Given the description of an element on the screen output the (x, y) to click on. 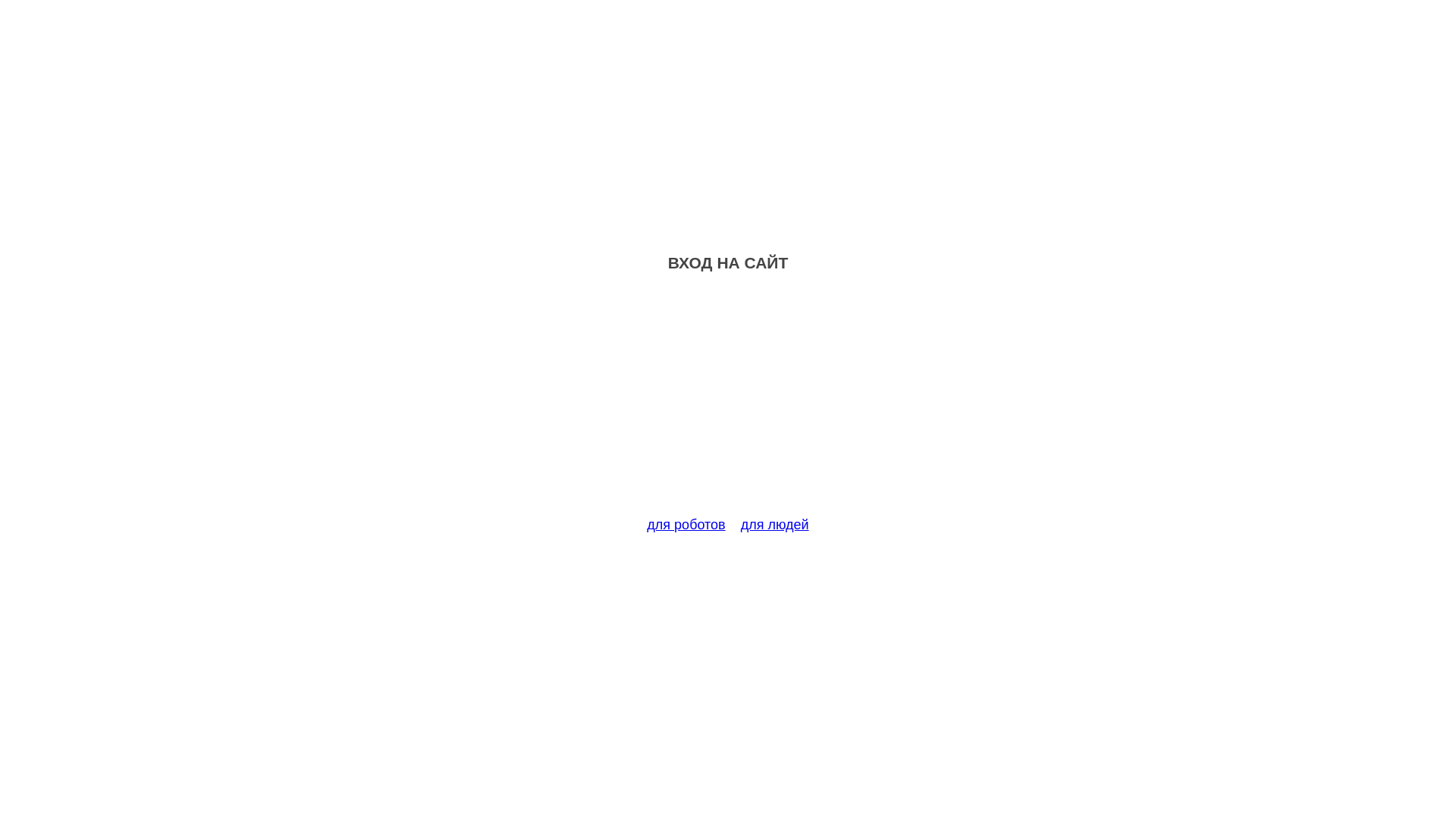
Advertisement Element type: hover (727, 403)
